Given the description of an element on the screen output the (x, y) to click on. 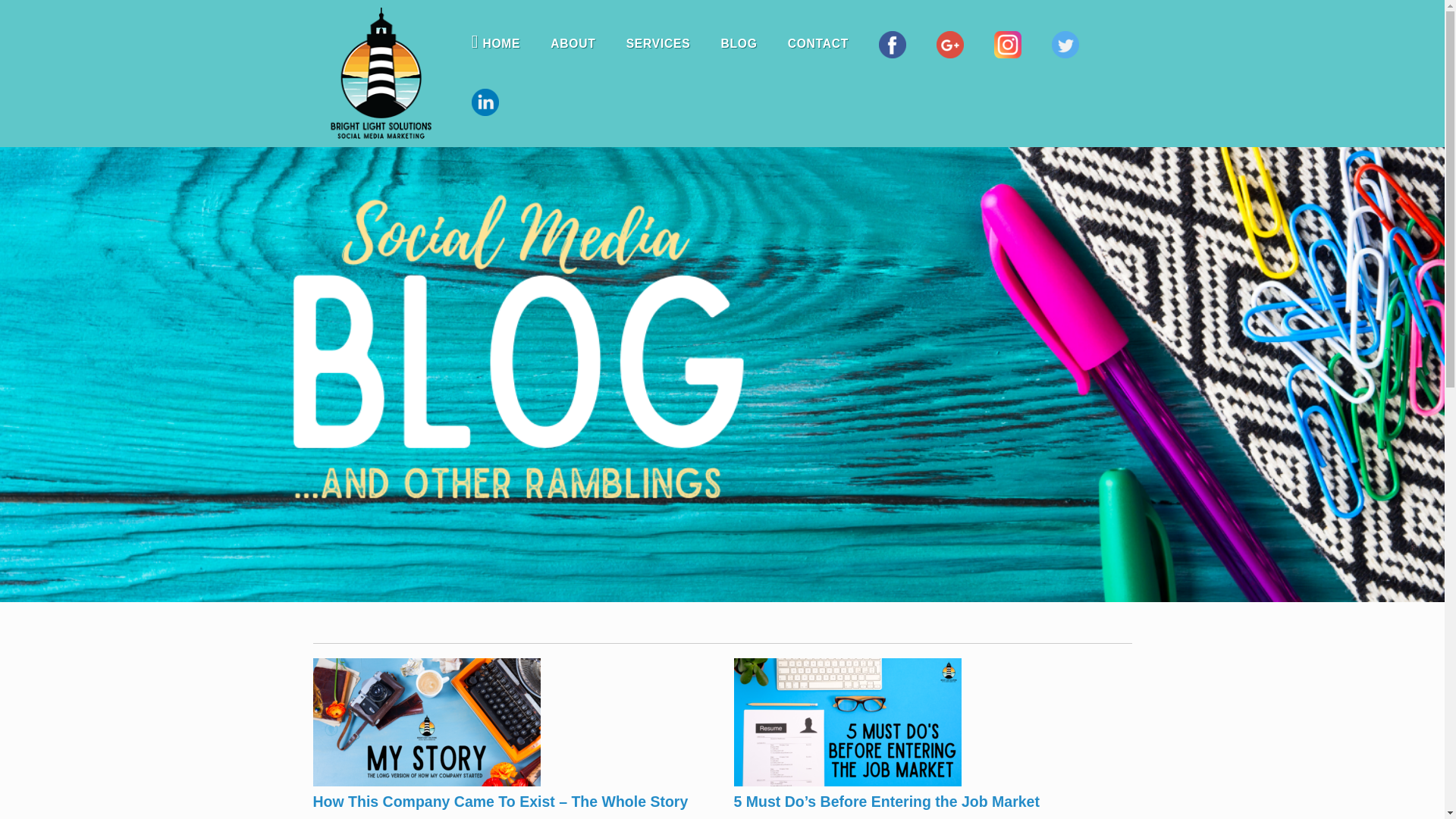
ABOUT (572, 43)
Bright Light Solutions (378, 73)
BLOG (737, 43)
SERVICES (658, 43)
HOME (496, 43)
CONTACT (818, 43)
